Given the description of an element on the screen output the (x, y) to click on. 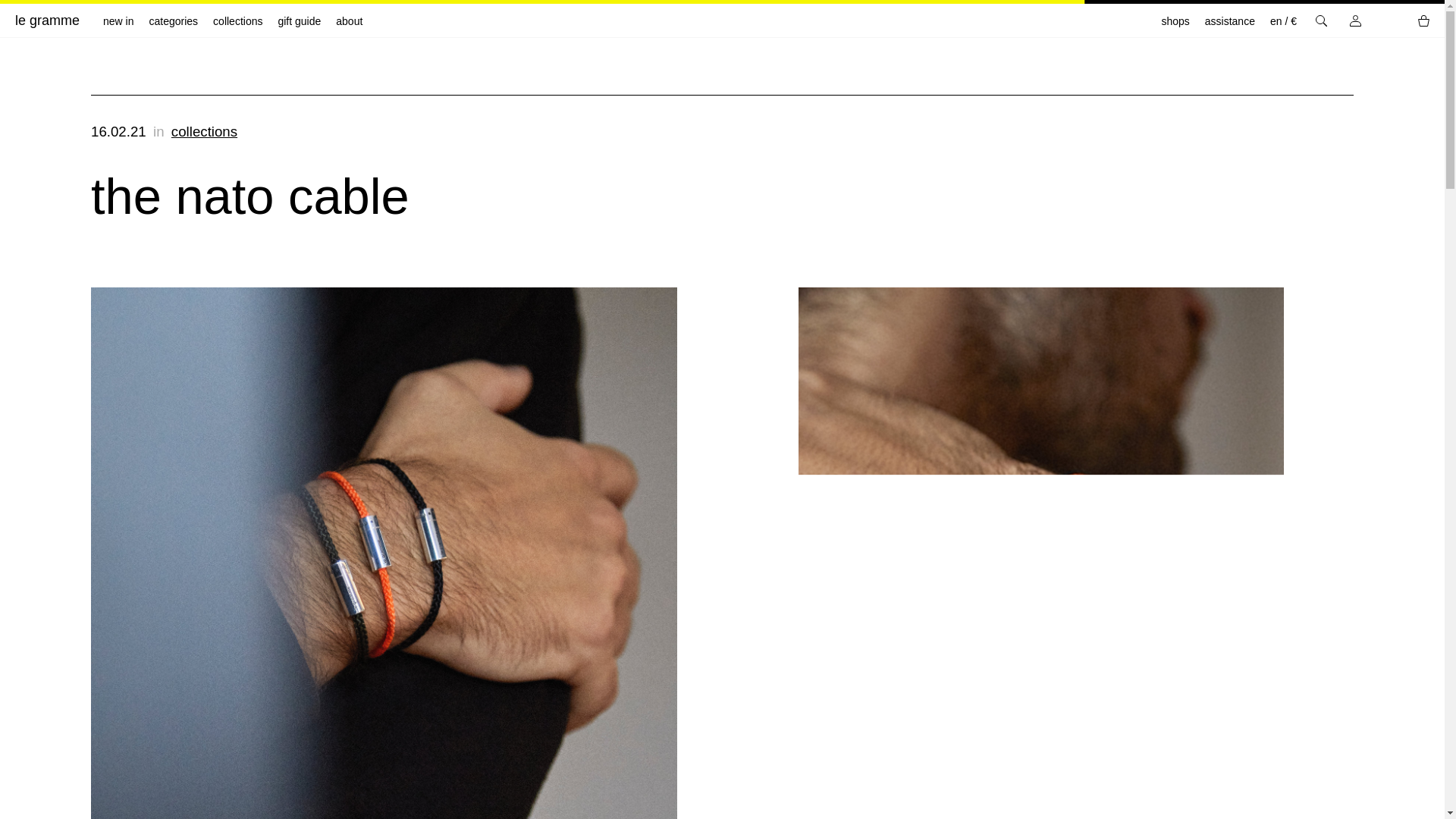
le gramme (40, 20)
collections (237, 21)
shops (1174, 21)
categories (173, 21)
new in (118, 21)
about (349, 21)
gift guide (299, 21)
